Given the description of an element on the screen output the (x, y) to click on. 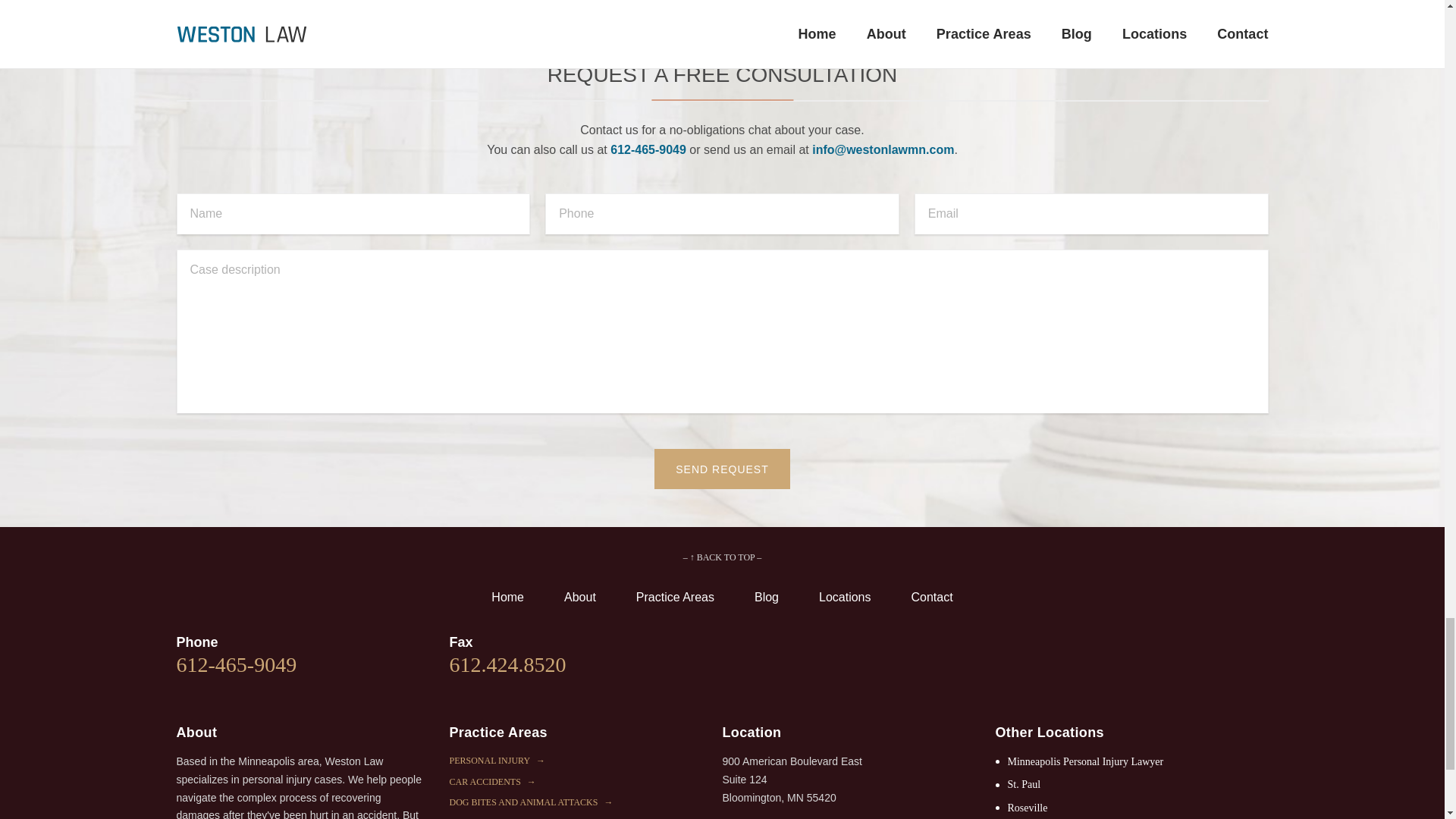
Send Request (721, 468)
